Given the description of an element on the screen output the (x, y) to click on. 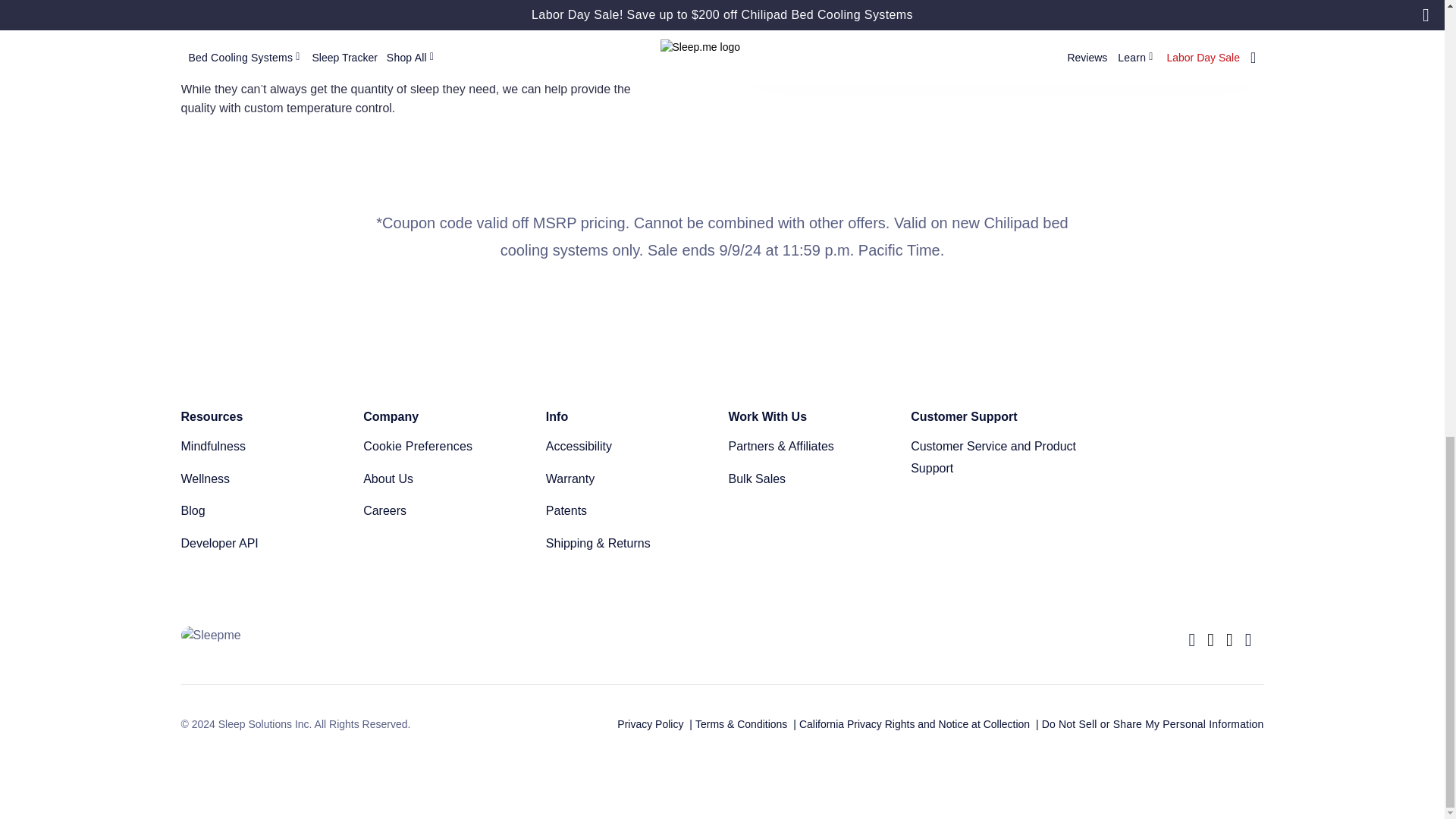
Cookie Preferences (448, 446)
Warranty (631, 479)
Mindfulness (265, 446)
Wellness (265, 479)
Accessibility (631, 446)
Careers (448, 511)
Blog (265, 511)
Patents (631, 511)
Customer Service and Product Support (996, 457)
About Us (448, 479)
